Given the description of an element on the screen output the (x, y) to click on. 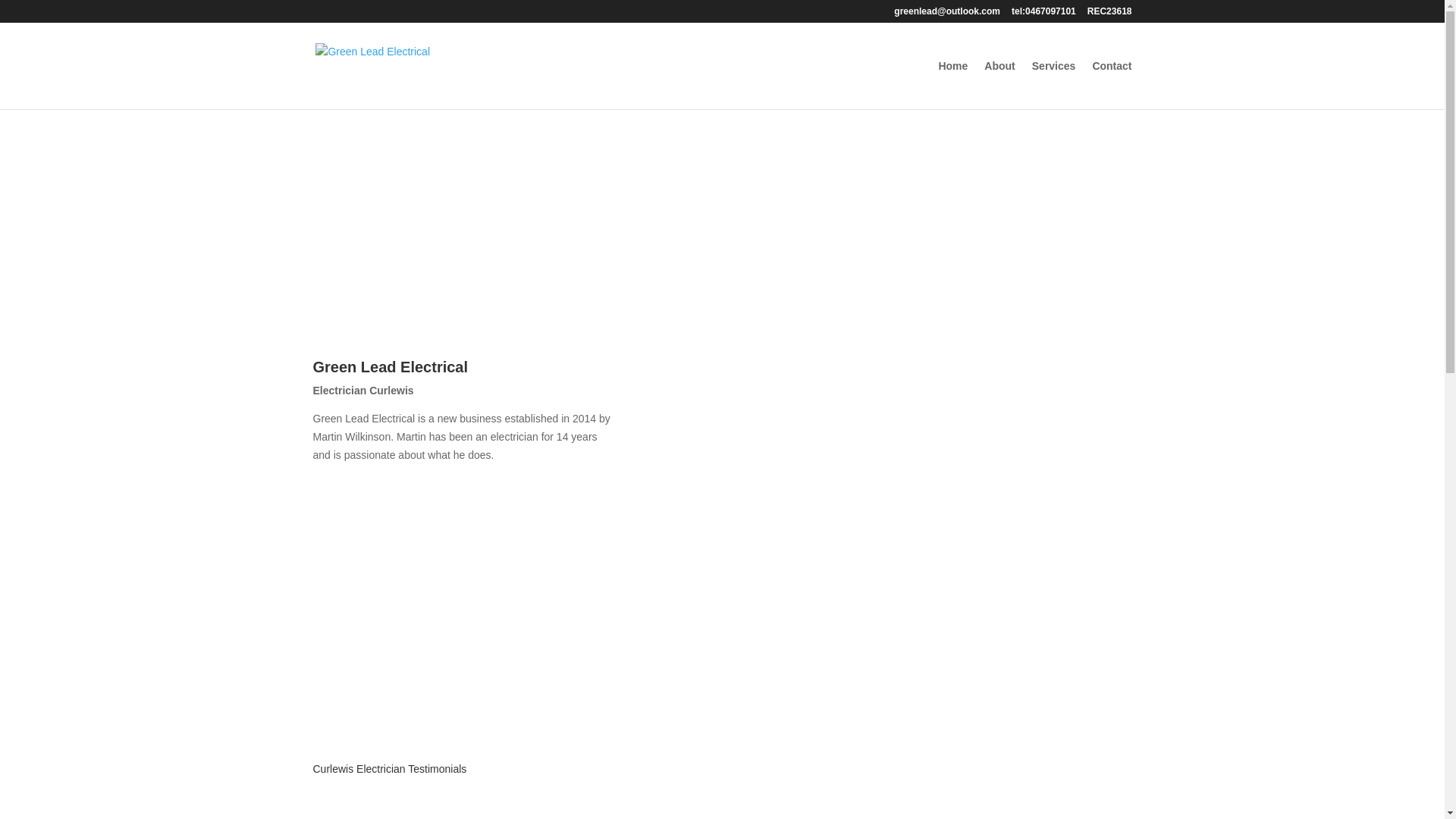
tel:0467097101 Element type: text (1043, 14)
Home Element type: text (952, 84)
Contact Element type: text (1111, 84)
Read more Element type: text (366, 505)
REC23618 Element type: text (1109, 14)
Services Element type: text (1054, 84)
About Element type: text (999, 84)
greenlead@outlook.com Element type: text (947, 14)
